Given the description of an element on the screen output the (x, y) to click on. 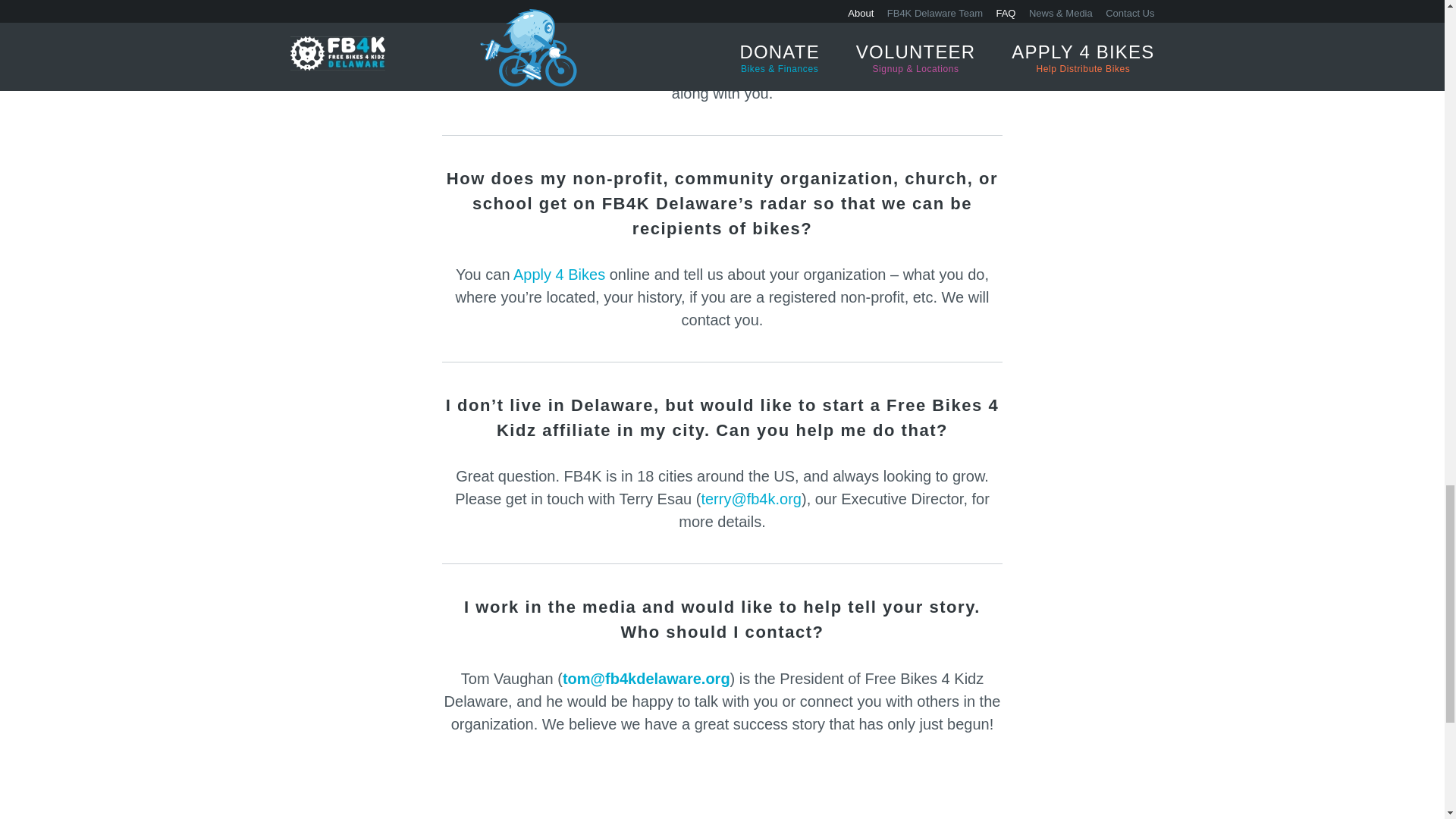
Apply 4 Bikes (559, 274)
Volunteer (700, 47)
Apply 4 Bikes (559, 274)
Volunteer (700, 47)
